Given the description of an element on the screen output the (x, y) to click on. 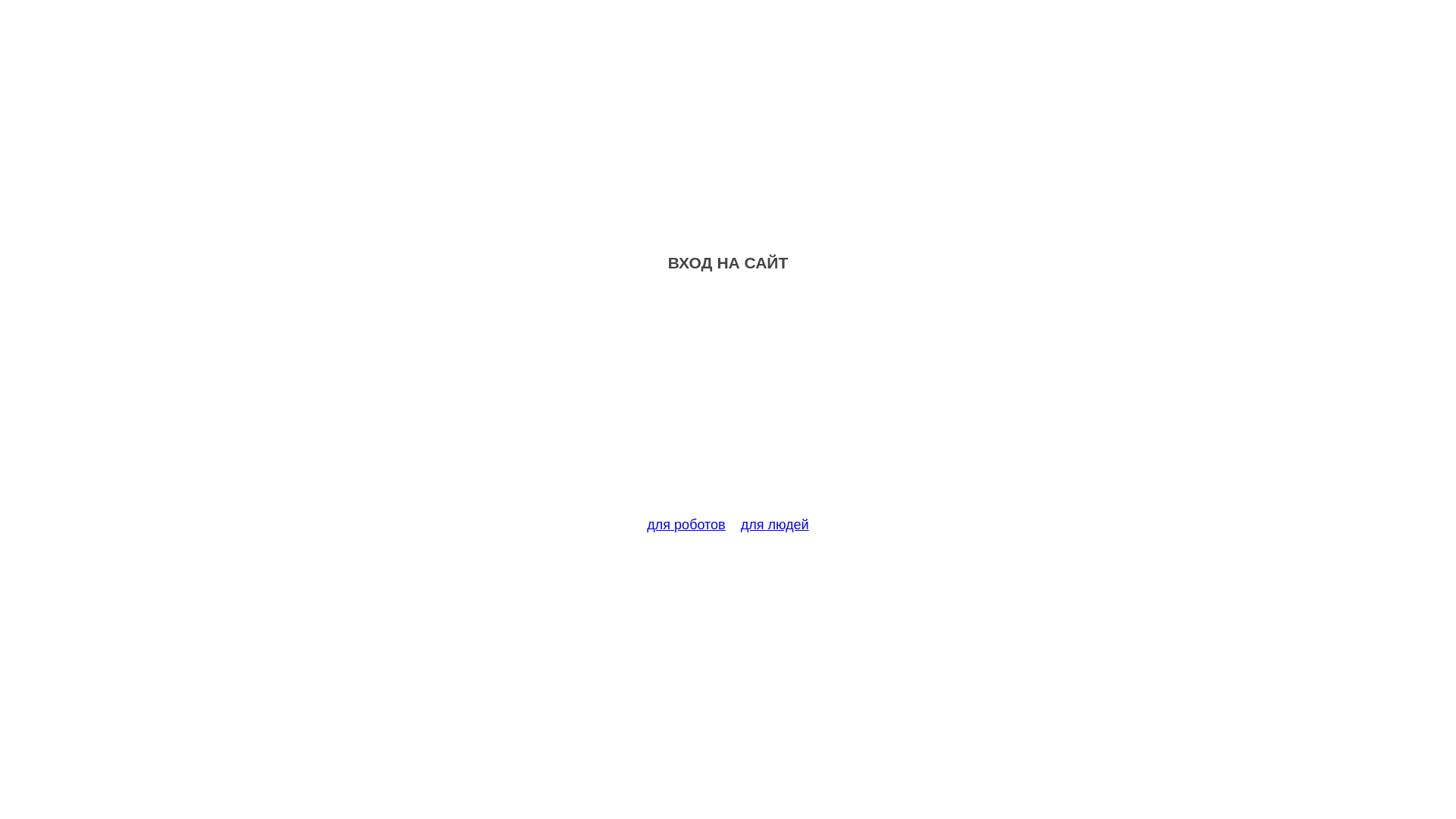
Advertisement Element type: hover (727, 403)
